Given the description of an element on the screen output the (x, y) to click on. 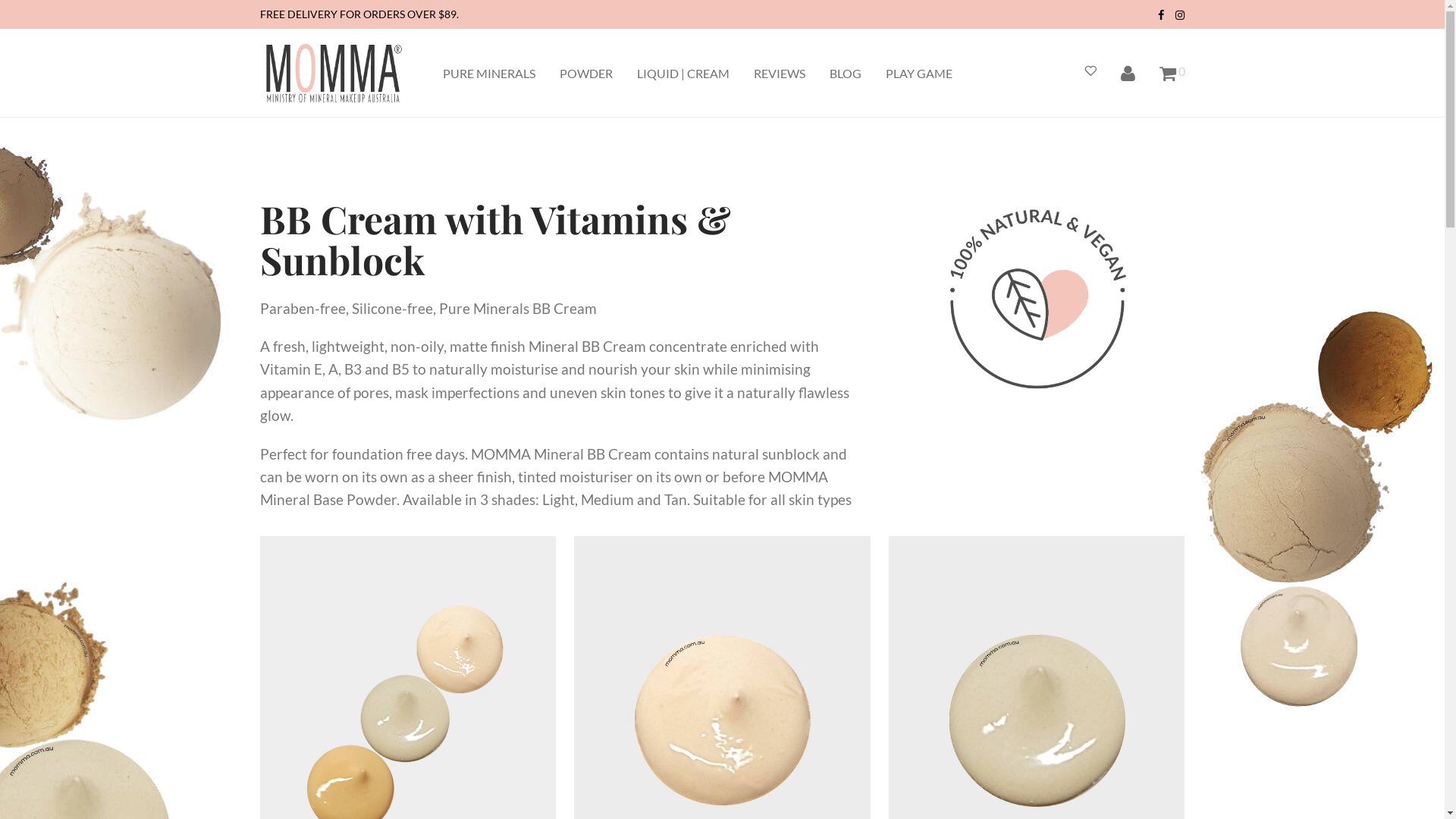
POWDER Element type: text (585, 73)
LIQUID | CREAM Element type: text (682, 73)
PLAY GAME Element type: text (918, 73)
Facebook Element type: hover (1160, 13)
BLOG Element type: text (845, 73)
Instagram Element type: hover (1179, 13)
100vegan Element type: hover (1038, 298)
REVIEWS Element type: text (779, 73)
PURE MINERALS Element type: text (488, 73)
0 Element type: text (1171, 73)
